Given the description of an element on the screen output the (x, y) to click on. 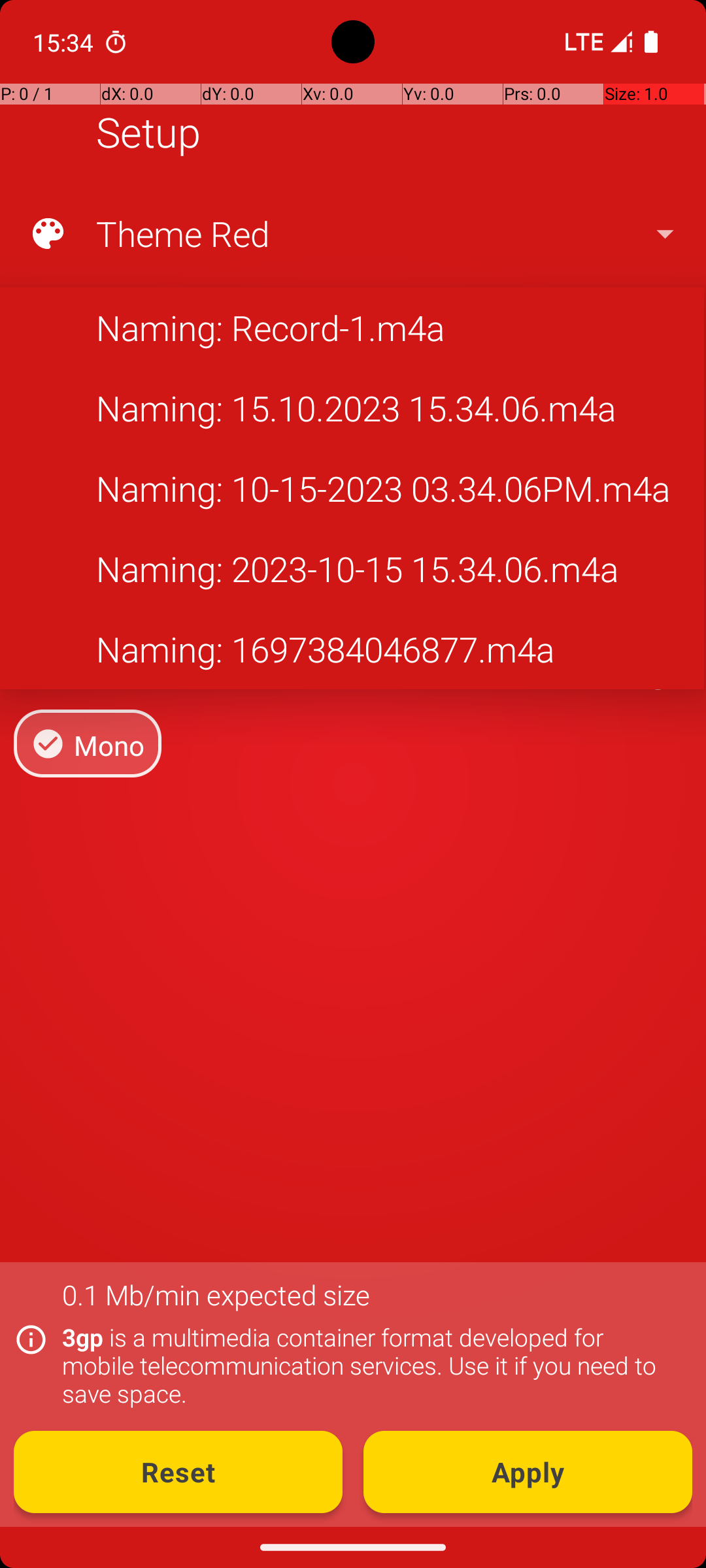
Naming: 15.10.2023 15.34.06.m4a Element type: android.widget.TextView (352, 407)
Naming: 10-15-2023 03.34.06PM.m4a Element type: android.widget.TextView (352, 488)
Naming: 2023-10-15 15.34.06.m4a Element type: android.widget.TextView (352, 568)
Naming: 1697384046877.m4a Element type: android.widget.TextView (352, 648)
Clock notification:  Element type: android.widget.ImageView (115, 41)
